Given the description of an element on the screen output the (x, y) to click on. 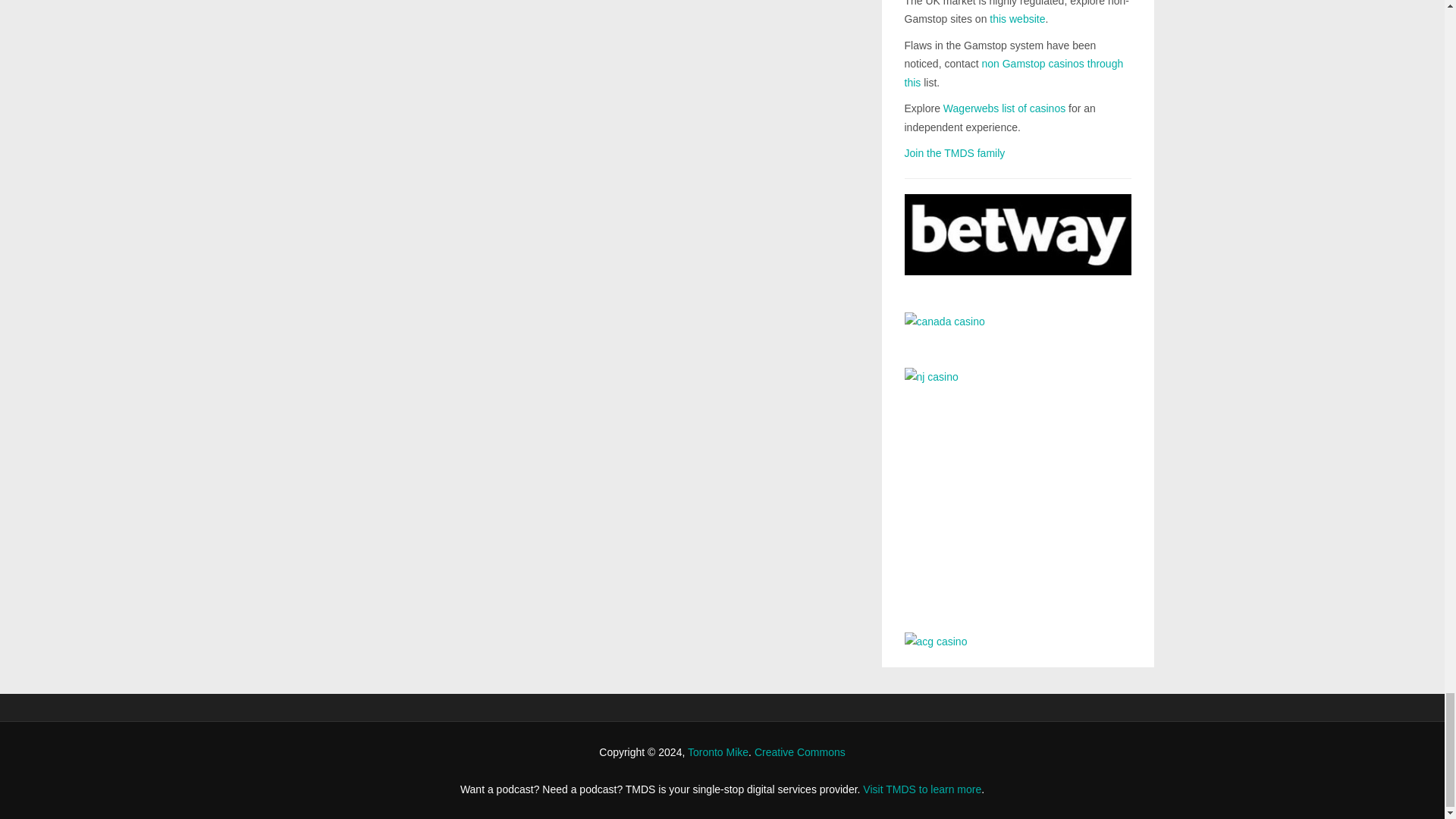
canada casino (1017, 329)
acg casino (1017, 641)
nj casino (1017, 488)
